Given the description of an element on the screen output the (x, y) to click on. 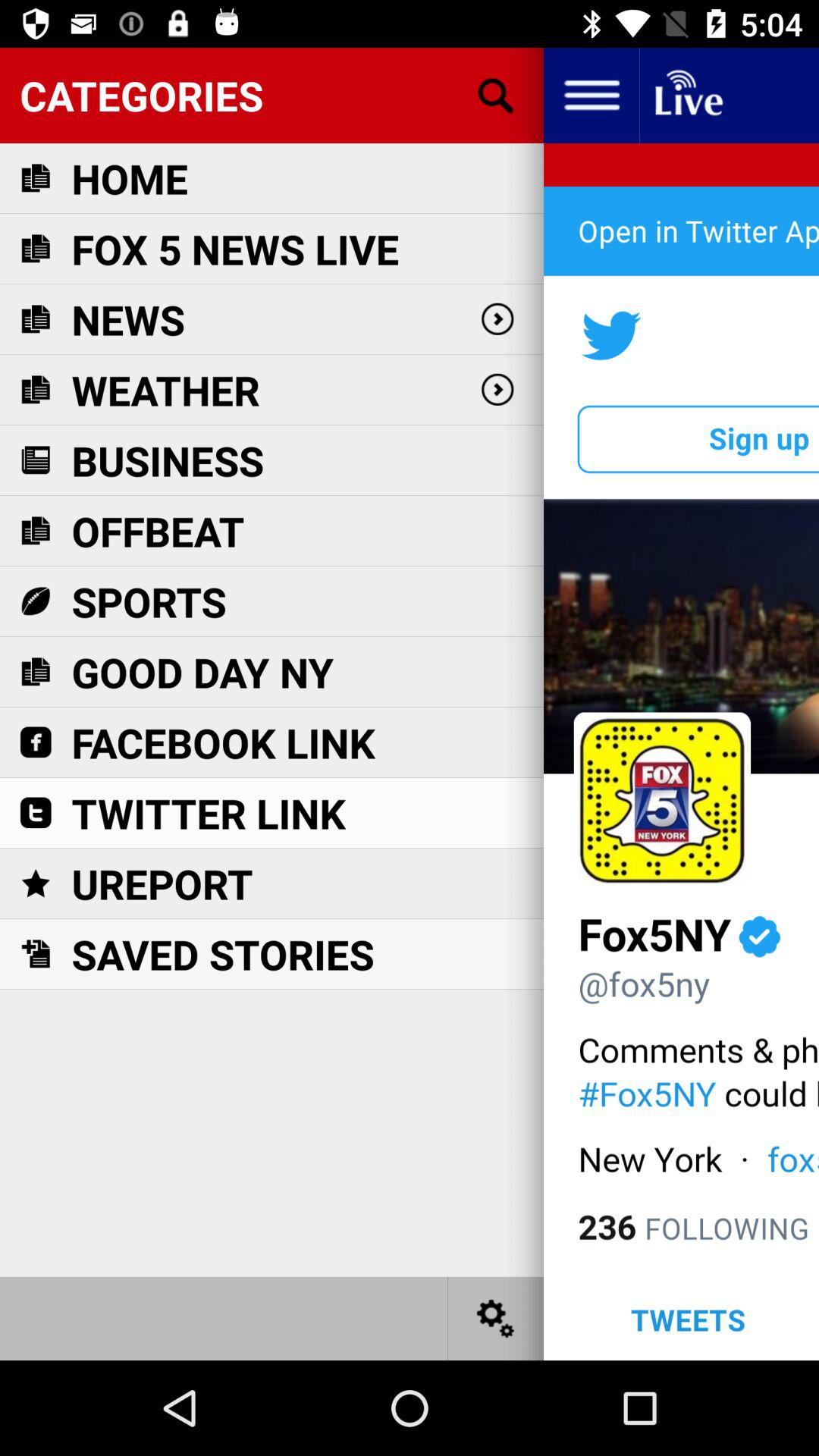
turn on the item below the business icon (157, 530)
